Given the description of an element on the screen output the (x, y) to click on. 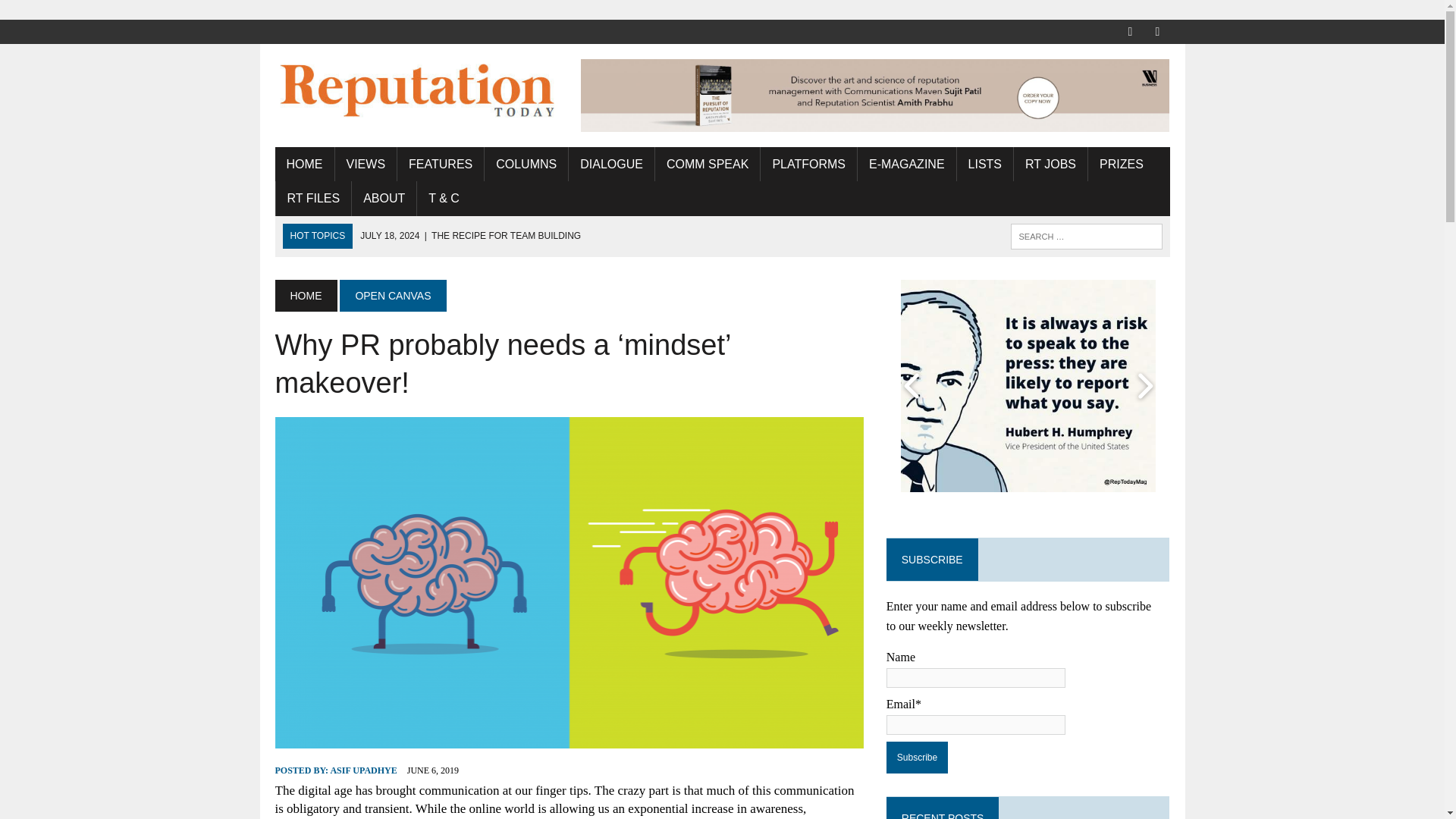
Reputation Today (416, 89)
Subscribe (916, 757)
The Recipe for Team Building (469, 235)
